Given the description of an element on the screen output the (x, y) to click on. 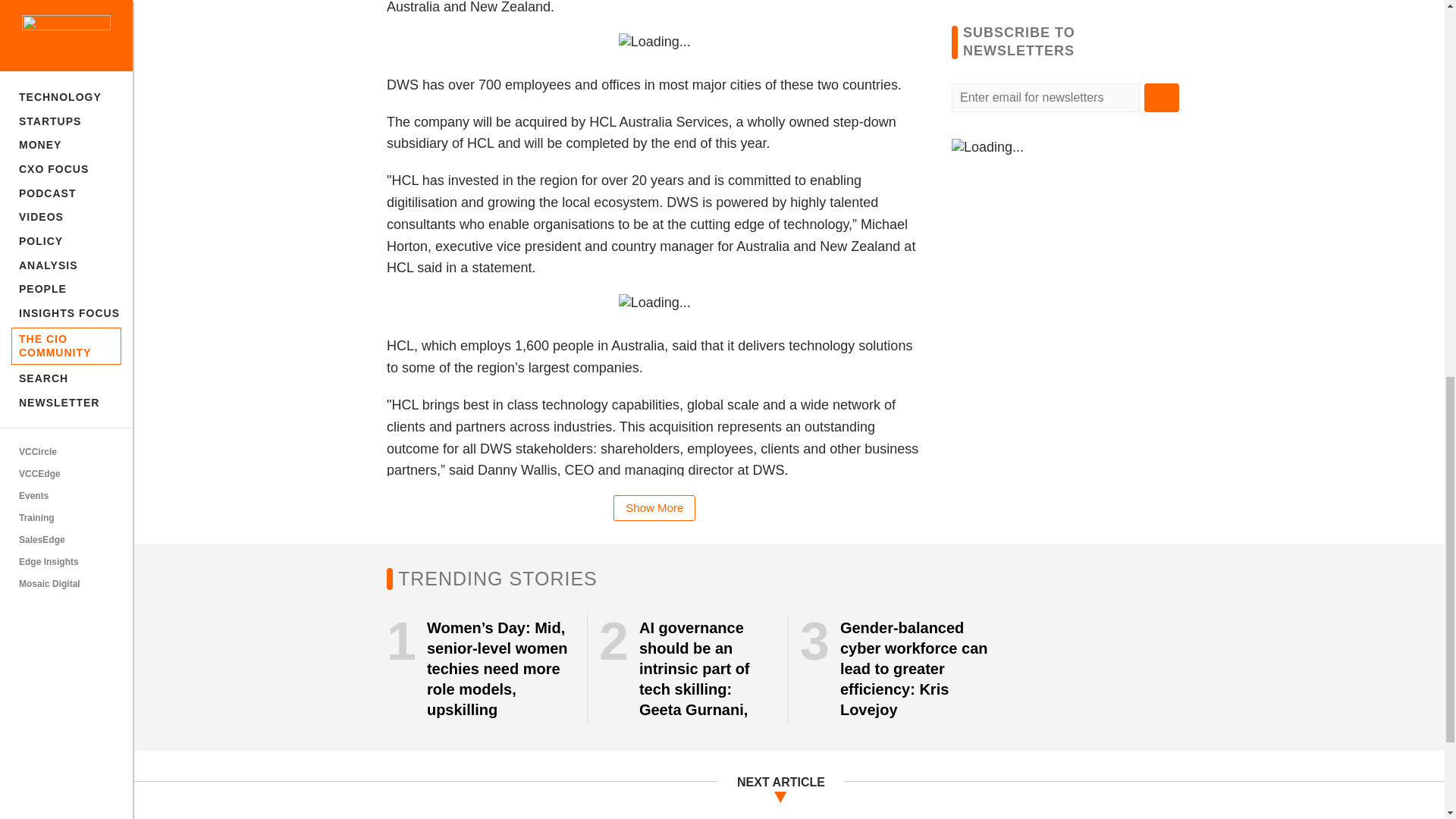
Submit (1161, 97)
